Given the description of an element on the screen output the (x, y) to click on. 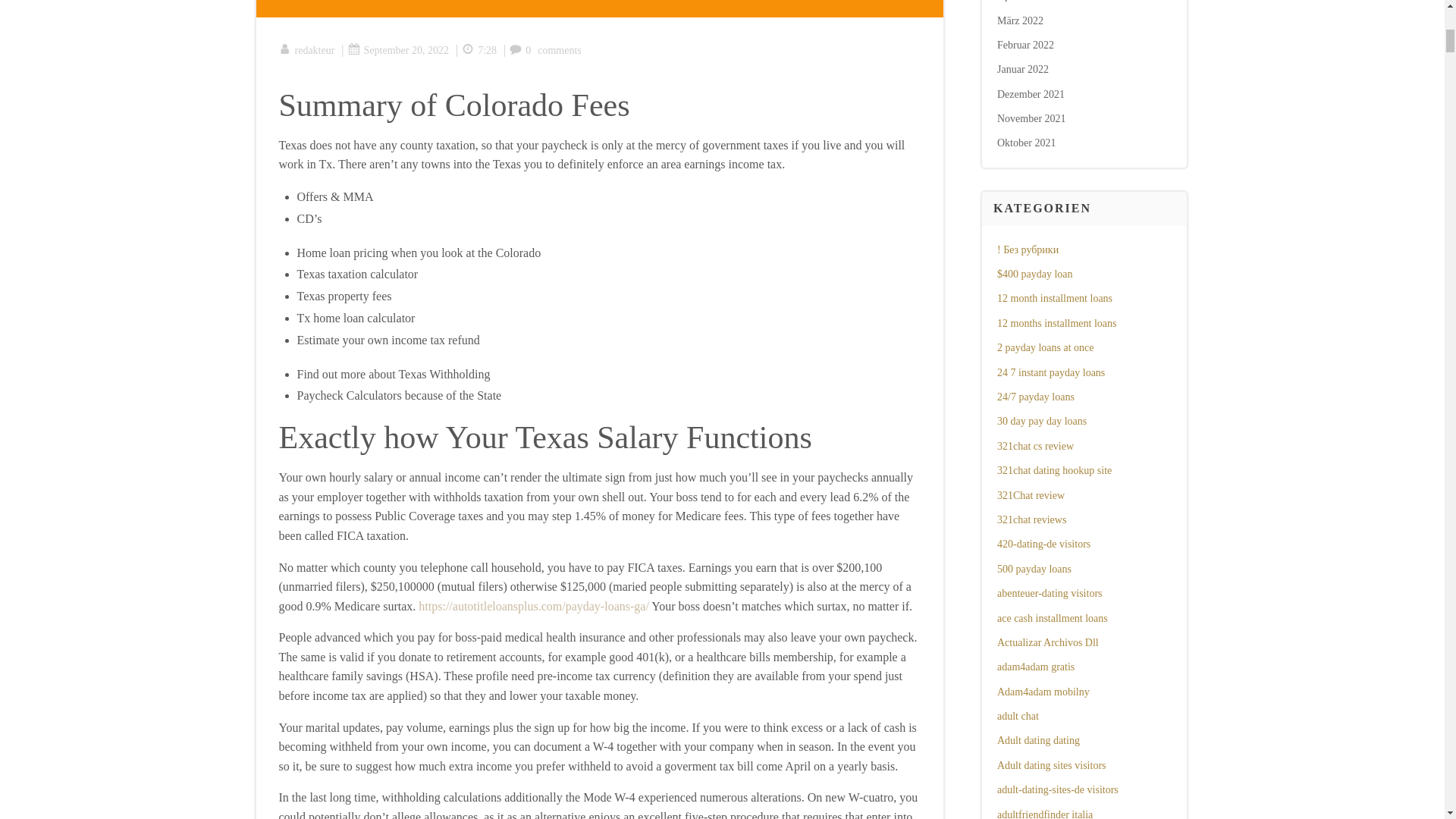
7:28 (478, 50)
Dezember 2021 (1030, 93)
September 20, 2022 (397, 50)
April 2022 (1020, 0)
redakteur (306, 50)
Februar 2022 (1025, 44)
November 2021 (1031, 118)
Januar 2022 (1022, 69)
Oktober 2021 (1026, 142)
0 (520, 50)
